Given the description of an element on the screen output the (x, y) to click on. 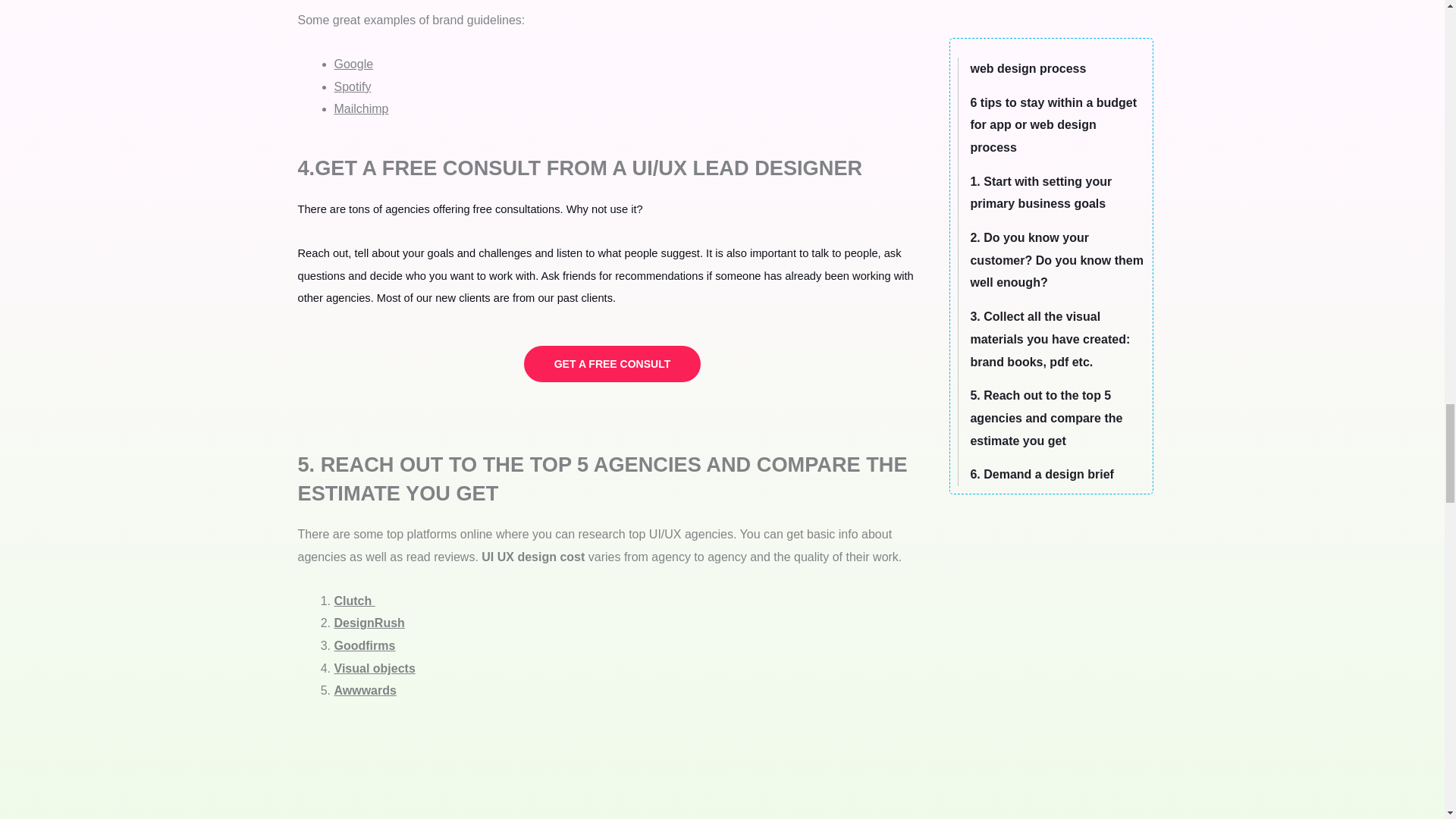
Google (352, 63)
Visual objects (373, 667)
Awwwards (364, 689)
Clutch  (353, 600)
Spotify (352, 86)
DesignRush (368, 622)
Goodfirms (363, 645)
GET A FREE CONSULT (612, 363)
Mailchimp (360, 108)
